Given the description of an element on the screen output the (x, y) to click on. 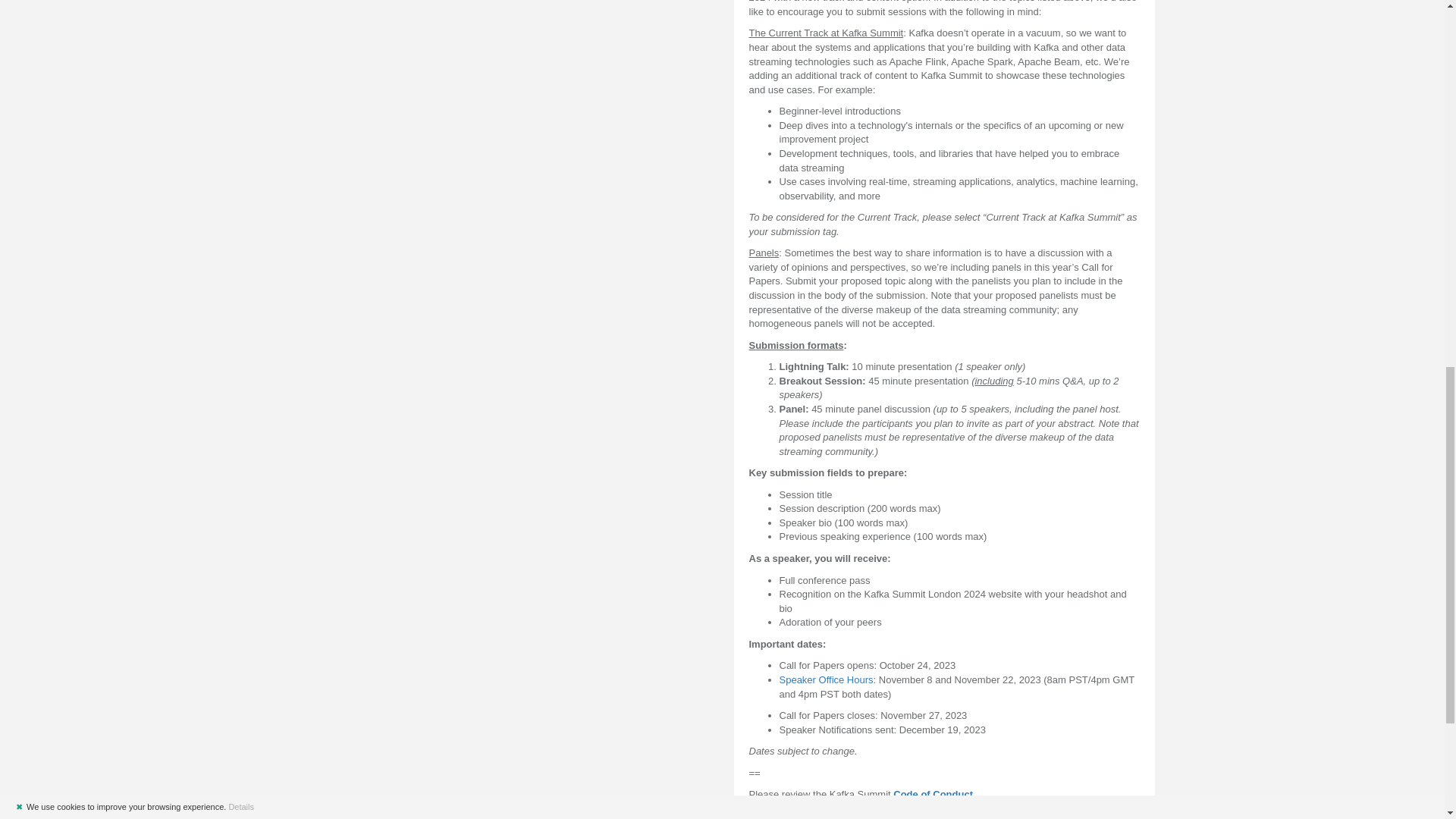
Speaker Office Hours (839, 679)
Code of Conduct (947, 794)
